Given the description of an element on the screen output the (x, y) to click on. 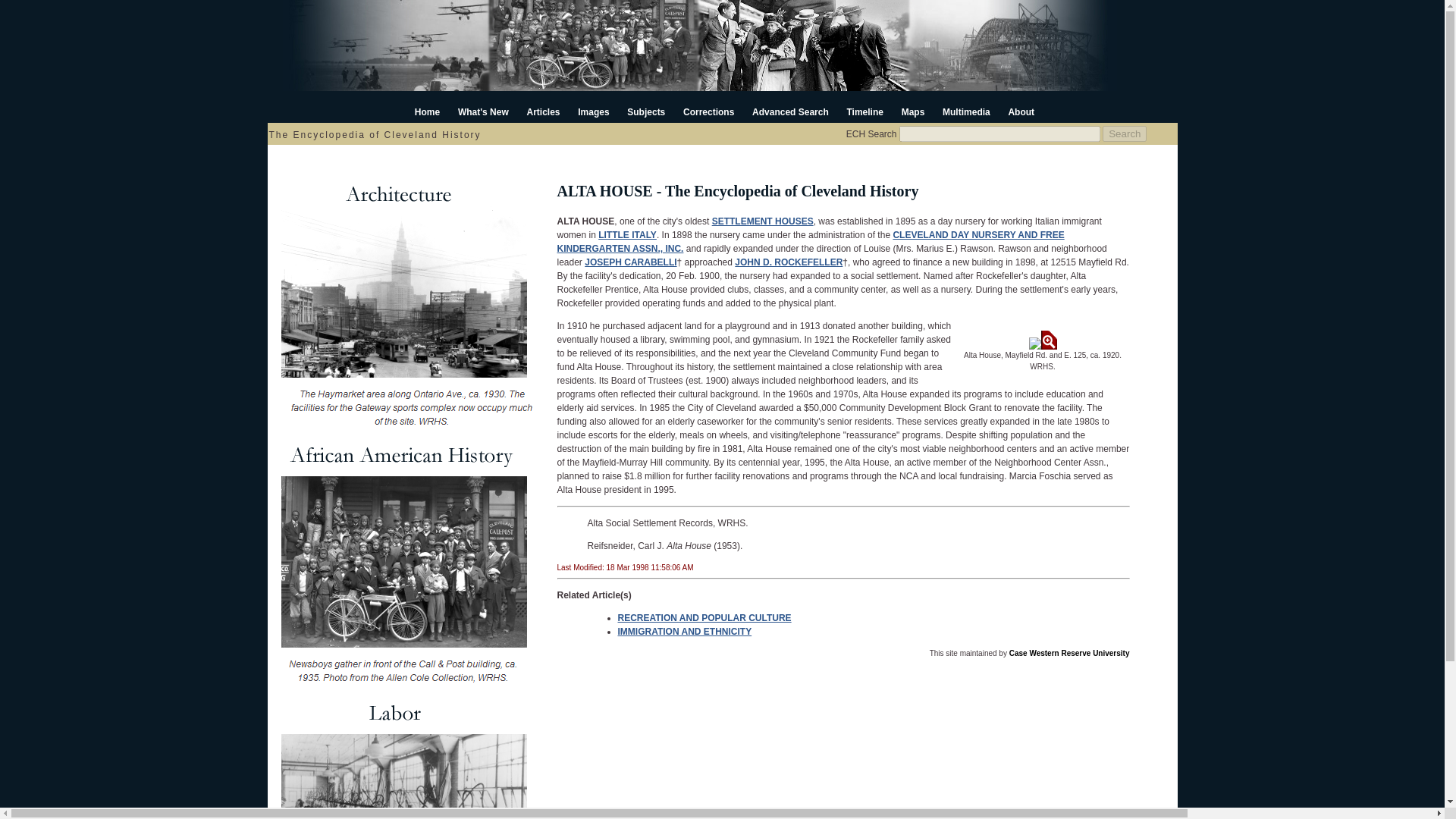
About (1020, 112)
JOHN D. ROCKEFELLER (789, 262)
Advanced Search (790, 112)
Timeline (863, 112)
RECREATION AND POPULAR CULTURE (703, 617)
LITTLE ITALY (627, 235)
Subjects (646, 112)
JOSEPH CARABELLI (631, 262)
Images (593, 112)
CLEVELAND DAY NURSERY AND FREE KINDERGARTEN ASSN., INC. (810, 241)
Maps (912, 112)
Search (1124, 133)
IMMIGRATION AND ETHNICITY (684, 631)
What's New (483, 112)
Multimedia (966, 112)
